Given the description of an element on the screen output the (x, y) to click on. 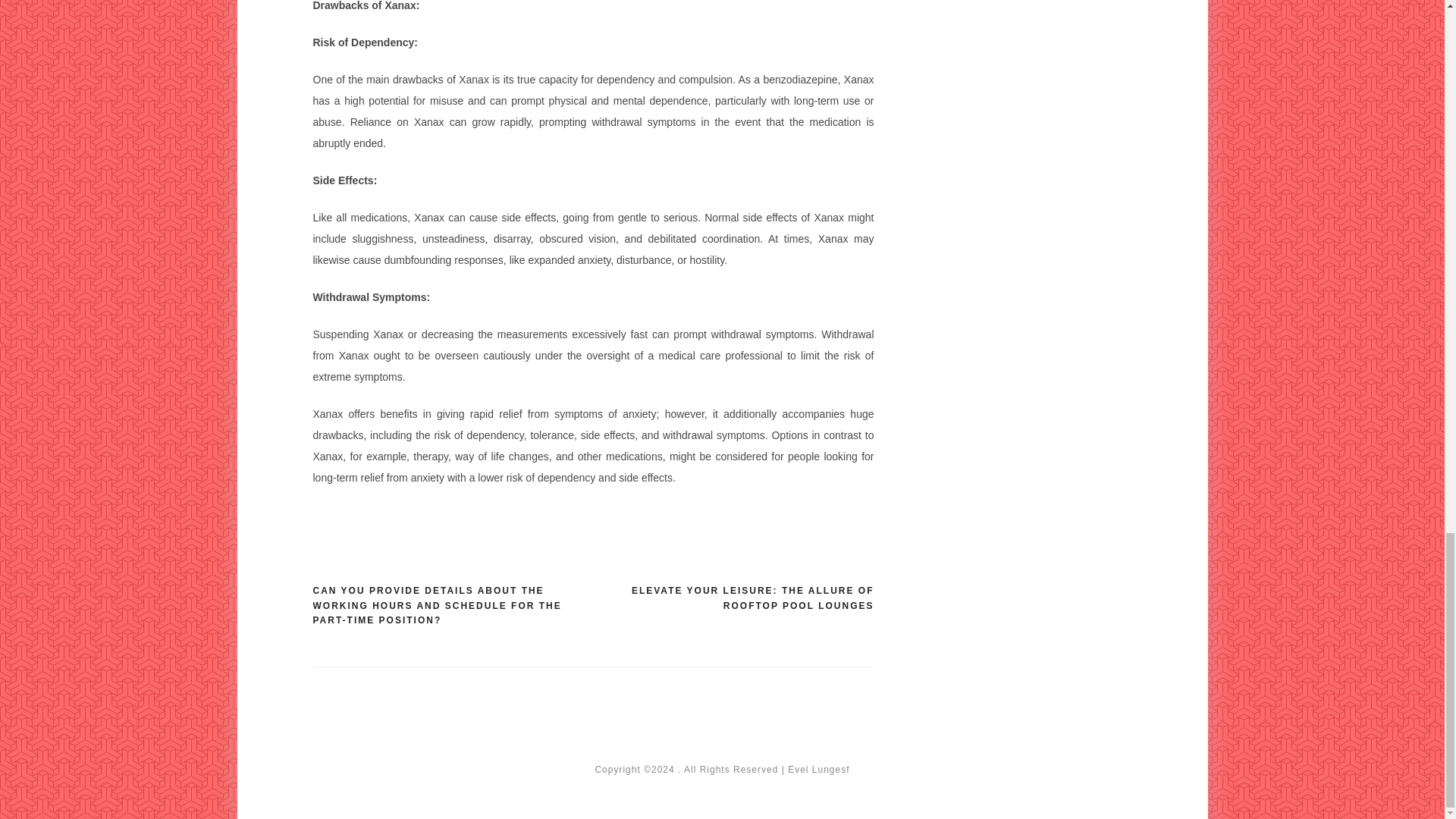
ELEVATE YOUR LEISURE: THE ALLURE OF ROOFTOP POOL LOUNGES (732, 598)
